Given the description of an element on the screen output the (x, y) to click on. 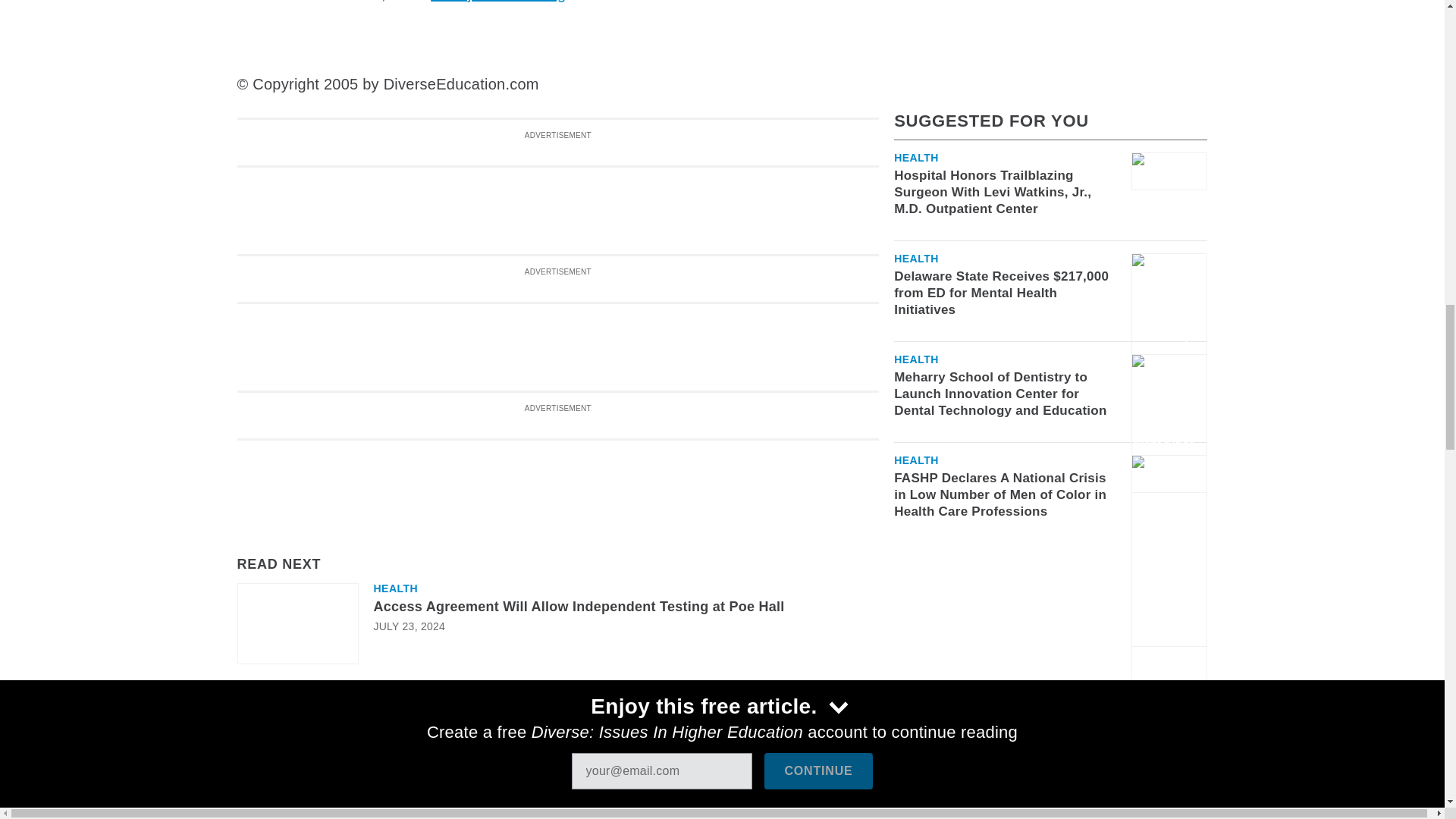
Health (394, 588)
Share To facebook (290, 716)
Share To print (250, 716)
